Given the description of an element on the screen output the (x, y) to click on. 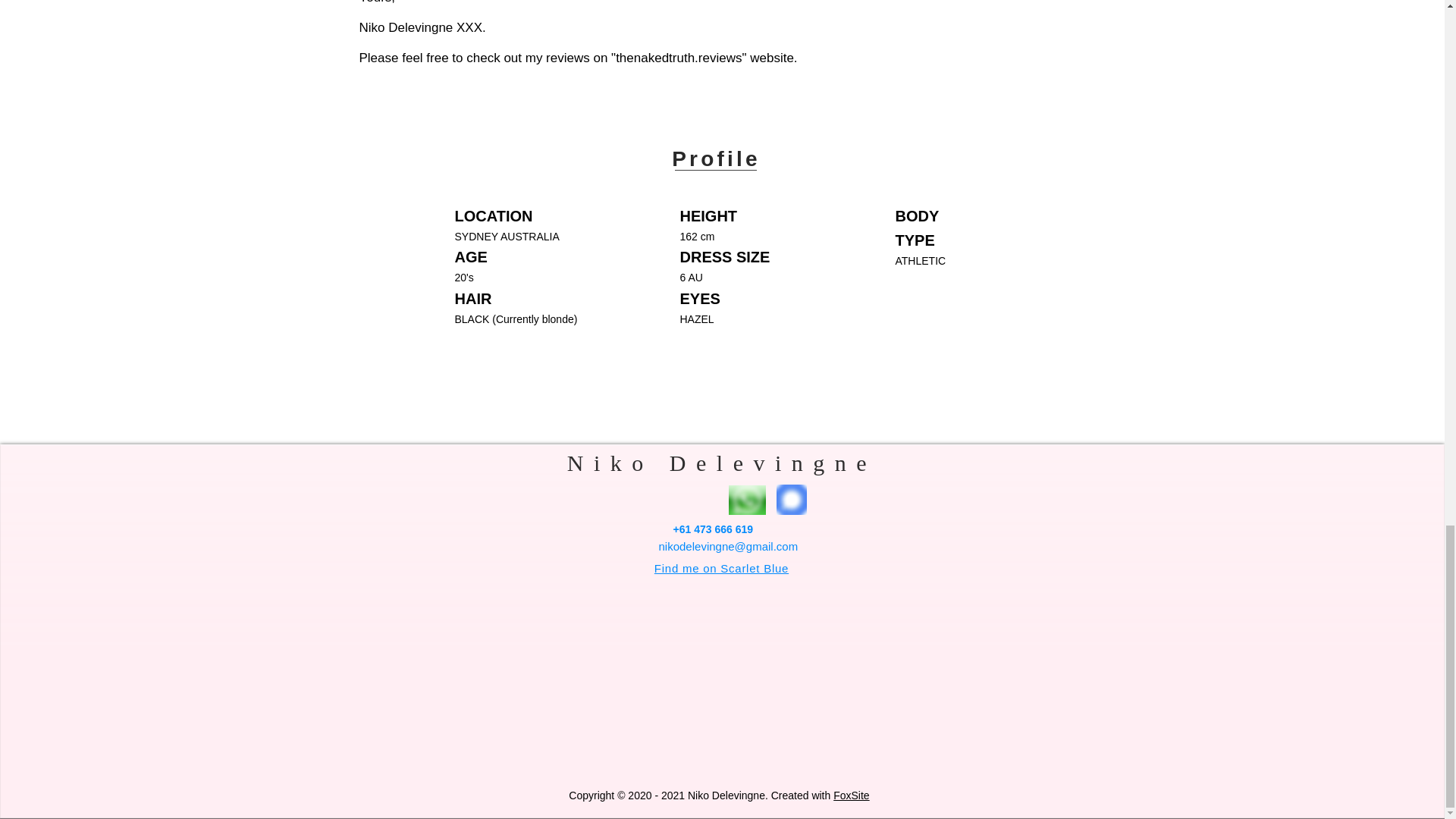
Find me on Scarlet Blue (721, 567)
signal.png (791, 499)
FoxSite (850, 795)
Niko Delevingne (721, 462)
